Given the description of an element on the screen output the (x, y) to click on. 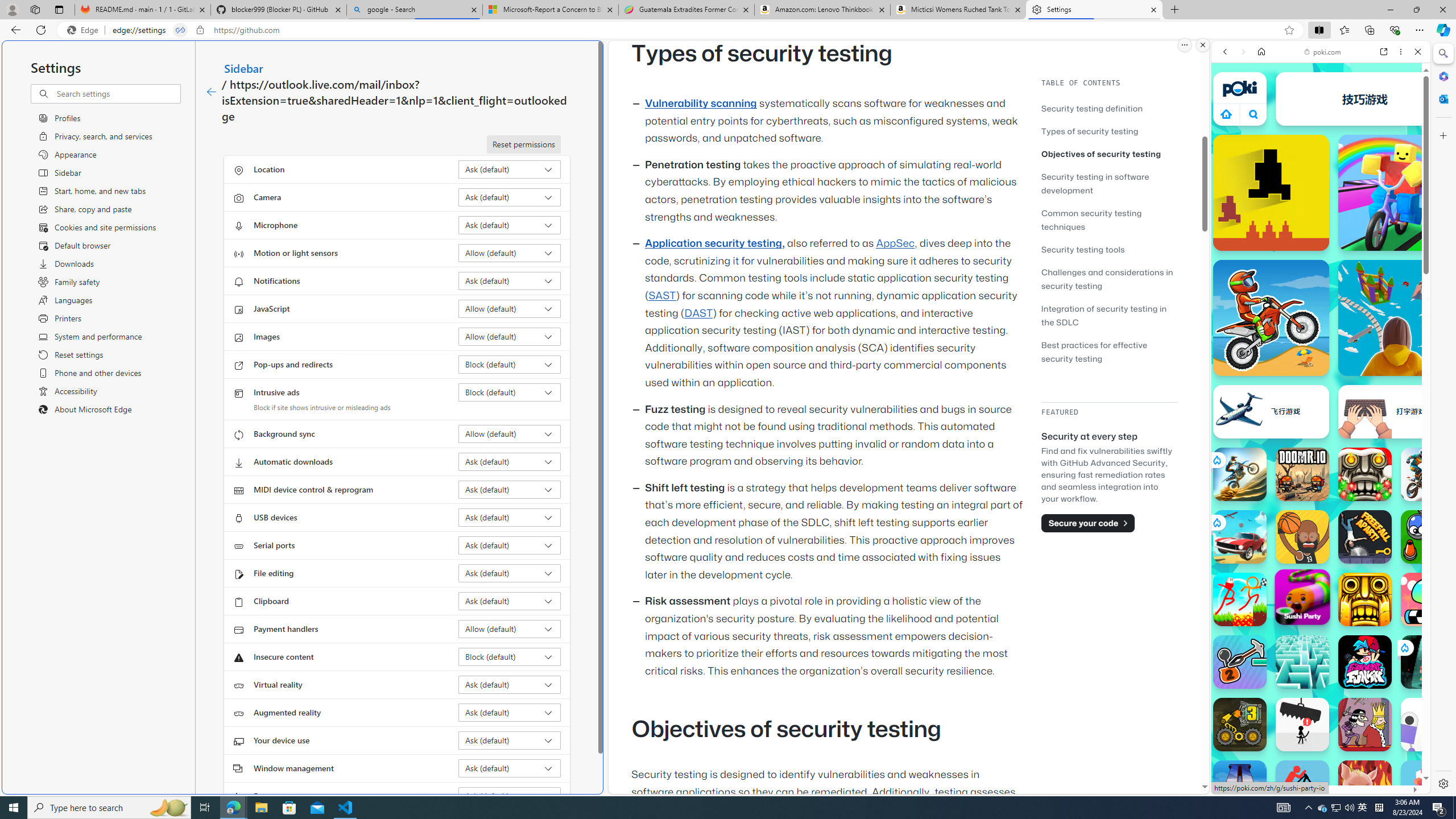
Class: b_serphb (1404, 130)
Dunkers 2 Dunkers 2 (1302, 536)
Minimize (1390, 9)
